Given the description of an element on the screen output the (x, y) to click on. 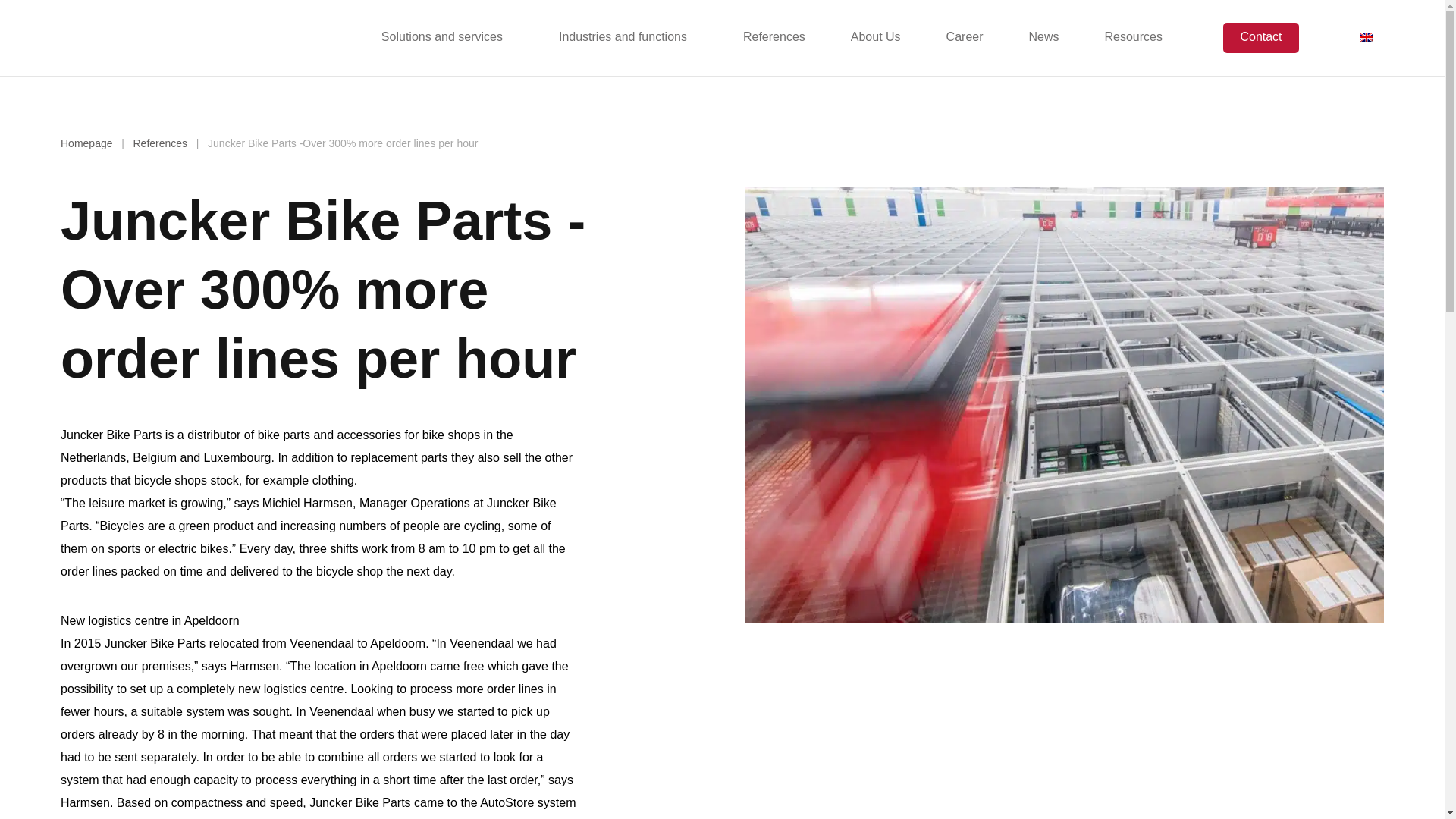
References (159, 143)
Homepage (87, 143)
Resources (1133, 37)
Industries and functions (623, 37)
Contact (1260, 37)
References (773, 37)
Solutions and services (441, 37)
